Given the description of an element on the screen output the (x, y) to click on. 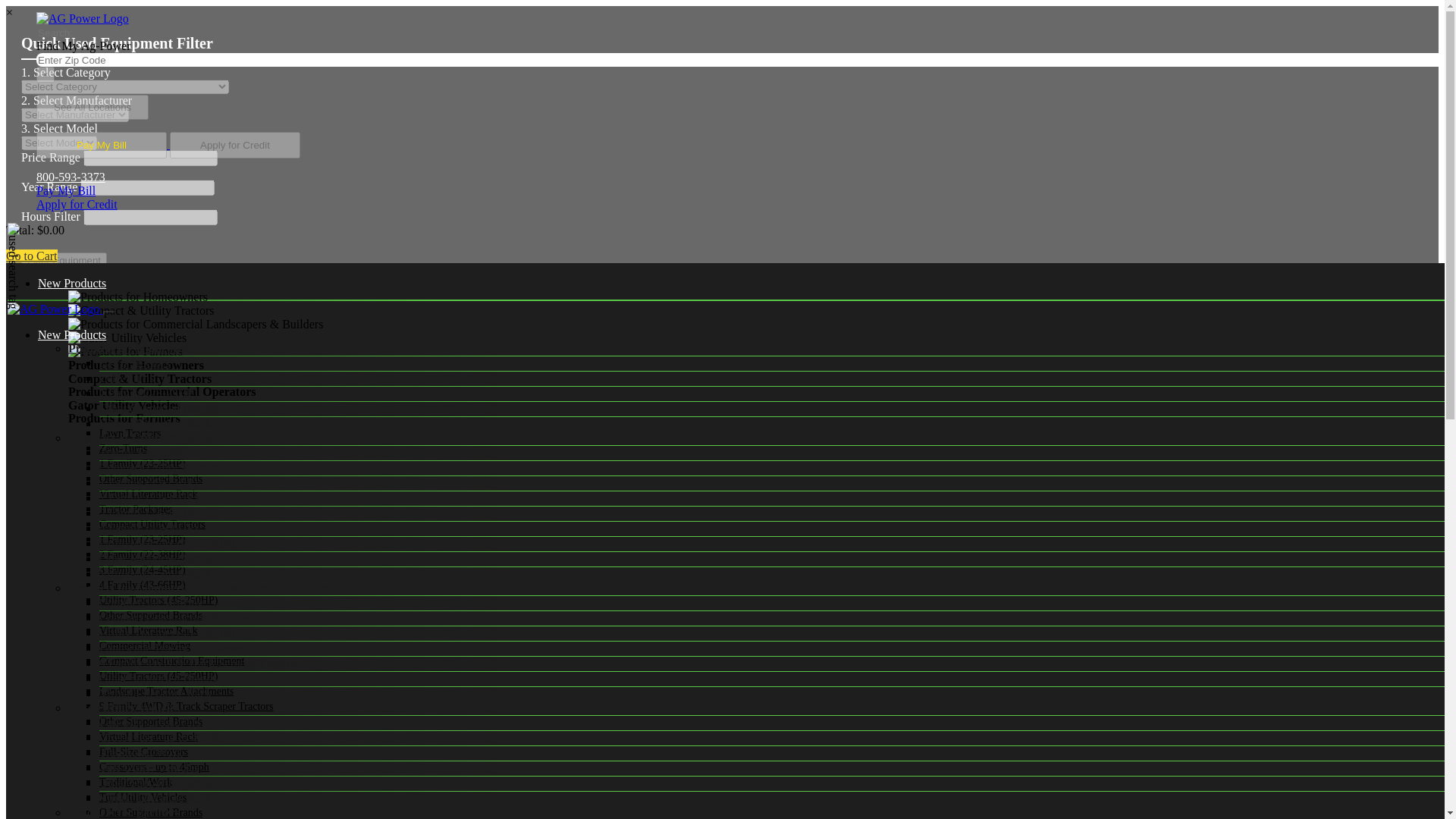
At least 3 characters (101, 60)
At least 3 characters (101, 32)
Filter Equipment (63, 260)
Apply for Credit (76, 204)
See All Locations (92, 106)
New Products (71, 282)
Virtual Literature Rack (148, 630)
See All Locations (92, 107)
Lawn Tractors (129, 432)
Turf Utility Vehicles (142, 797)
Full-Size Crossovers (143, 751)
Virtual Literature Rack (148, 736)
Landscape Tractor Attachments (165, 690)
Other Supported Brands (150, 614)
Commercial Mowing (144, 645)
